Given the description of an element on the screen output the (x, y) to click on. 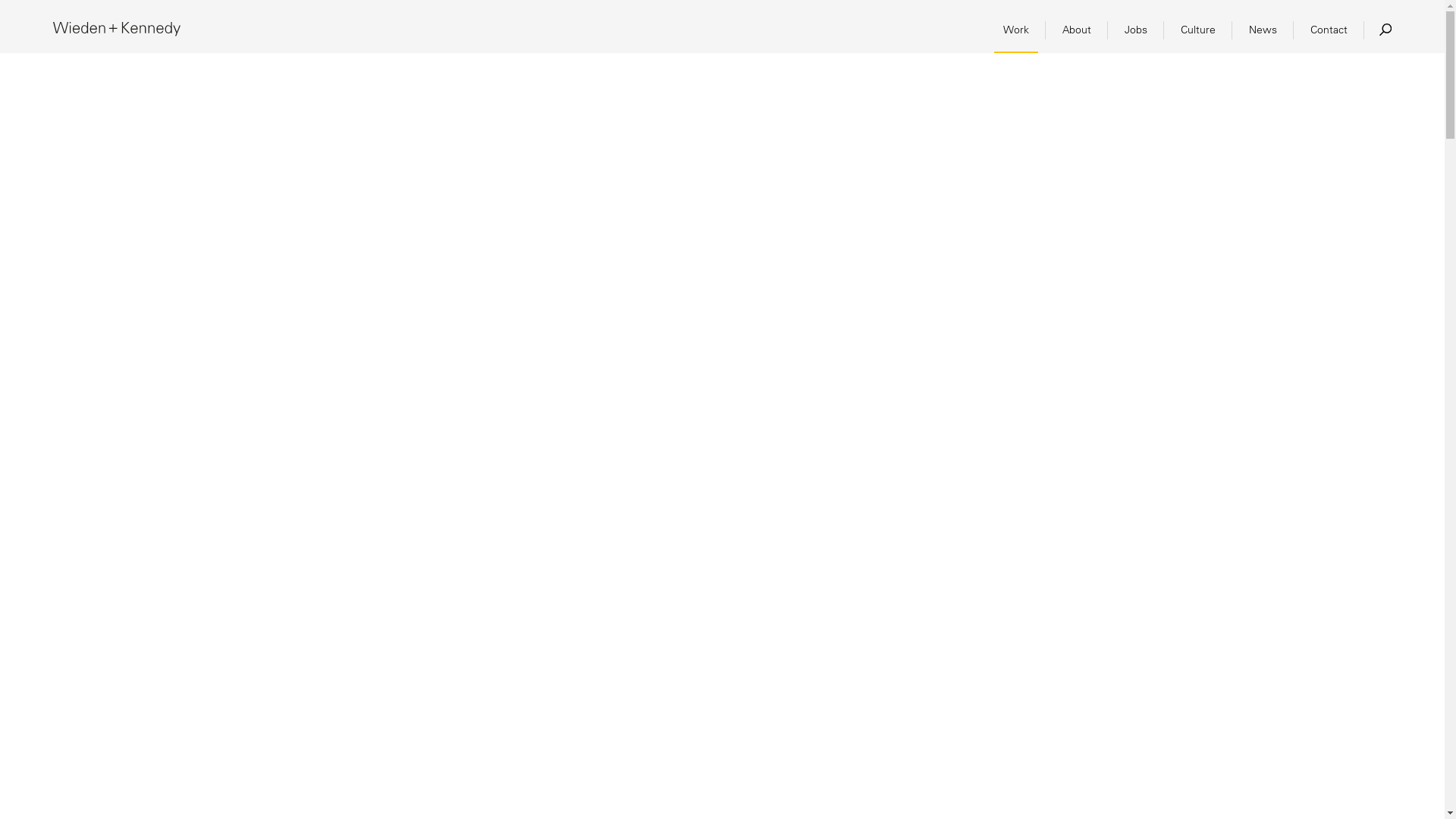
Work (1016, 29)
News (1262, 29)
Culture (1197, 29)
Jobs (1135, 29)
Contact (1329, 29)
Search (1384, 29)
About (1076, 29)
